Given the description of an element on the screen output the (x, y) to click on. 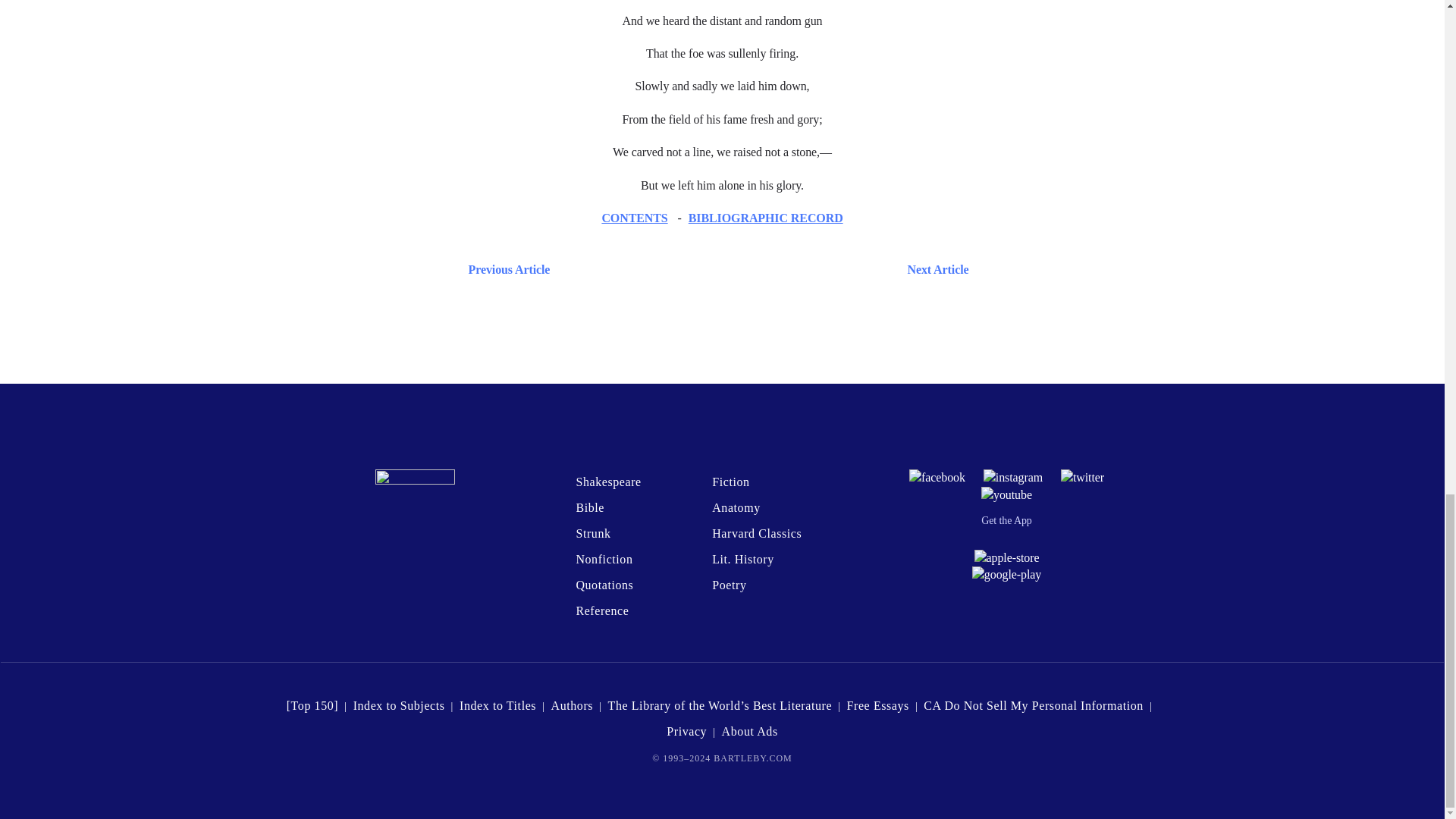
Previous Article (505, 269)
BIBLIOGRAPHIC RECORD (765, 217)
Lit. History (742, 558)
Fiction (730, 481)
Strunk (592, 533)
Quotations (604, 584)
Poetry (728, 584)
CONTENTS (633, 217)
Anatomy (735, 507)
Reference (601, 610)
Shakespeare (607, 481)
Harvard Classics (756, 533)
Bible (589, 507)
Nonfiction (603, 558)
Next Article (766, 269)
